Given the description of an element on the screen output the (x, y) to click on. 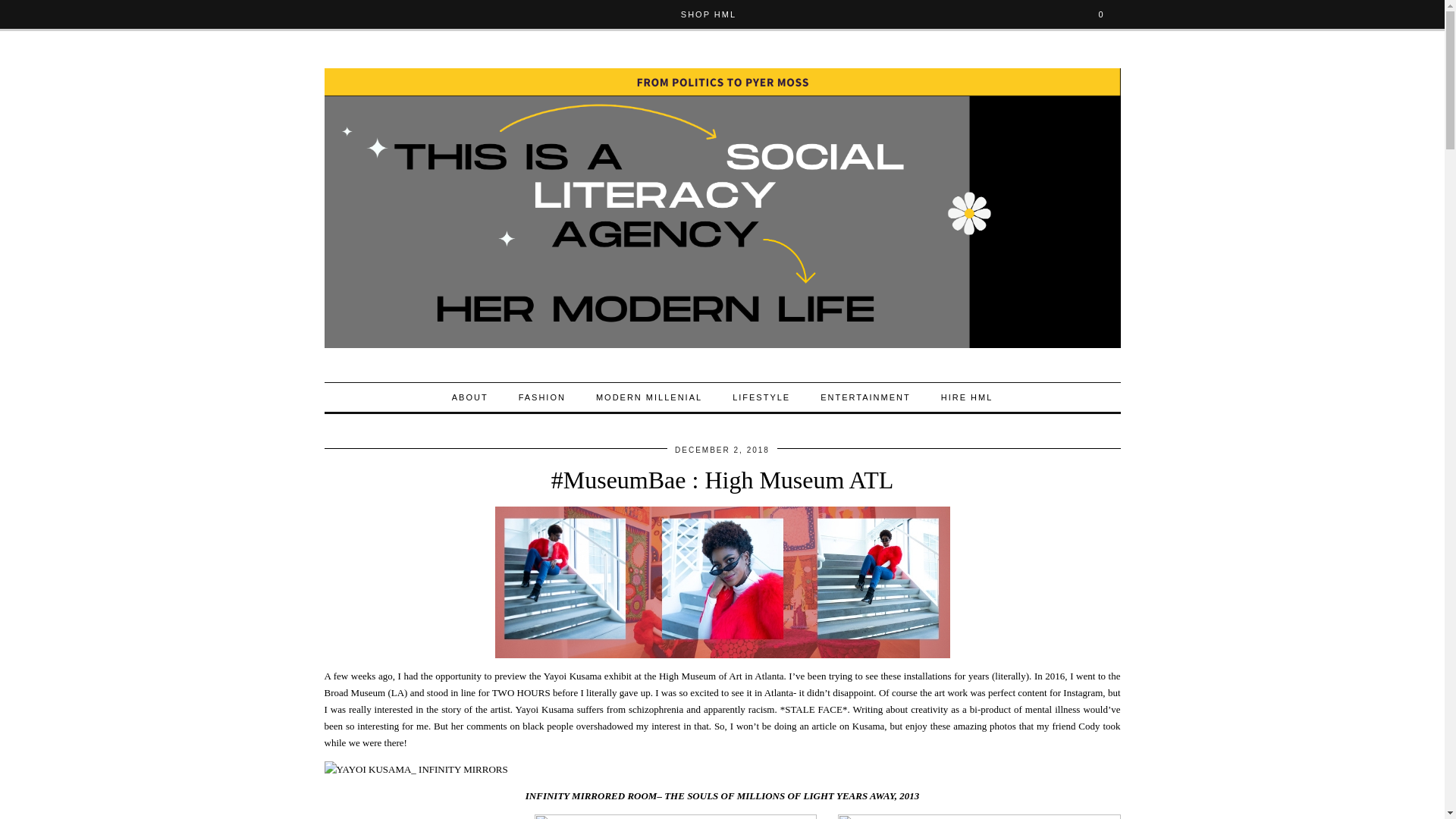
HIRE HML (967, 397)
ABOUT (469, 397)
MODERN MILLENIAL (648, 397)
FASHION (541, 397)
ENTERTAINMENT (865, 397)
LIFESTYLE (761, 397)
SHOP HML (708, 14)
